Given the description of an element on the screen output the (x, y) to click on. 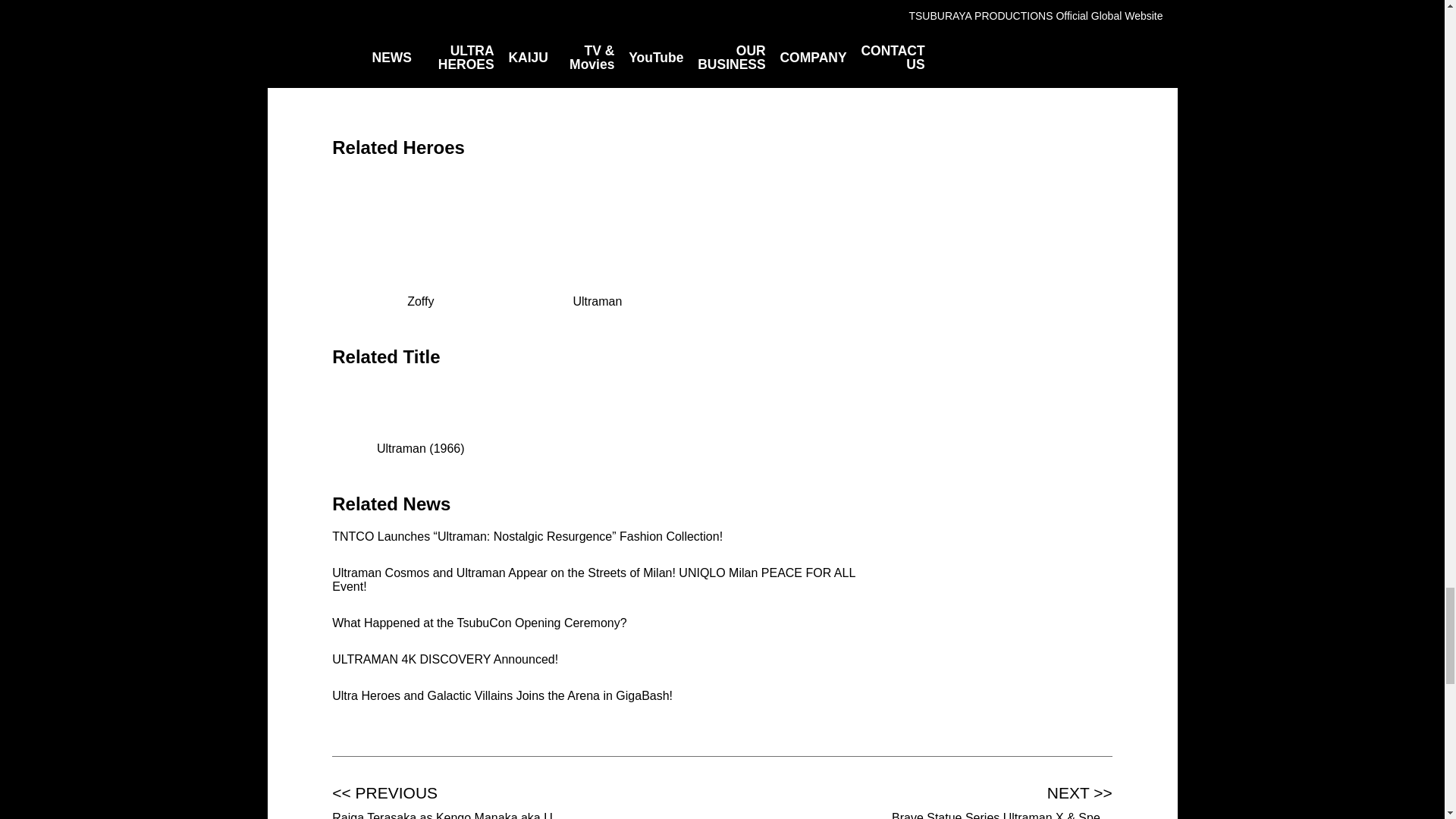
Ultraman (596, 294)
What Happened at the TsubuCon Opening Ceremony? (478, 622)
Zoffy (419, 294)
ULTRAMAN 4K DISCOVERY Announced! (444, 658)
